Given the description of an element on the screen output the (x, y) to click on. 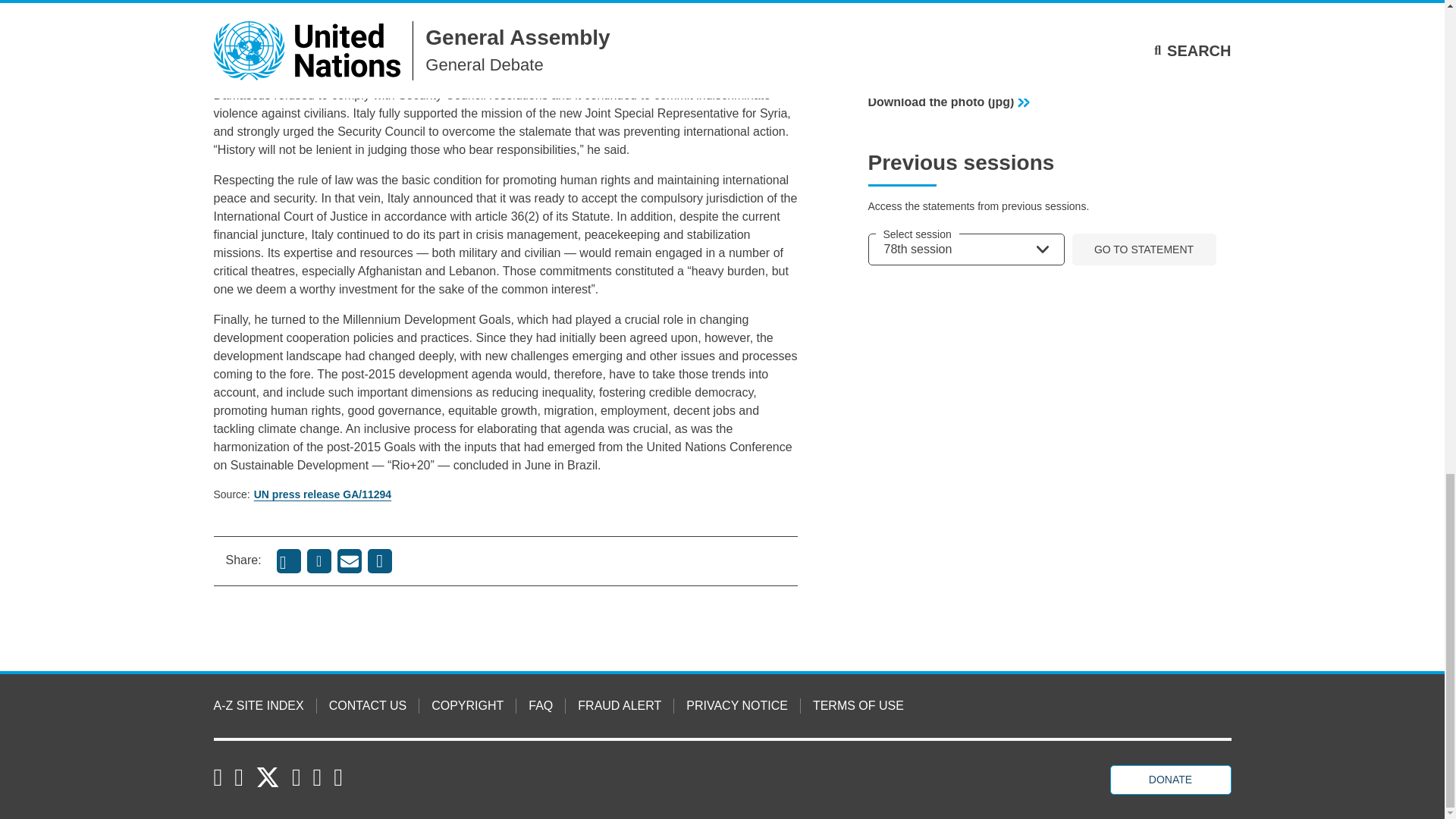
Share this page on WhatsApp (379, 560)
GO TO STATEMENT (1143, 248)
Share this page by email (349, 560)
Share this page on Facebook (319, 560)
Share this page on Twitter (288, 560)
